Given the description of an element on the screen output the (x, y) to click on. 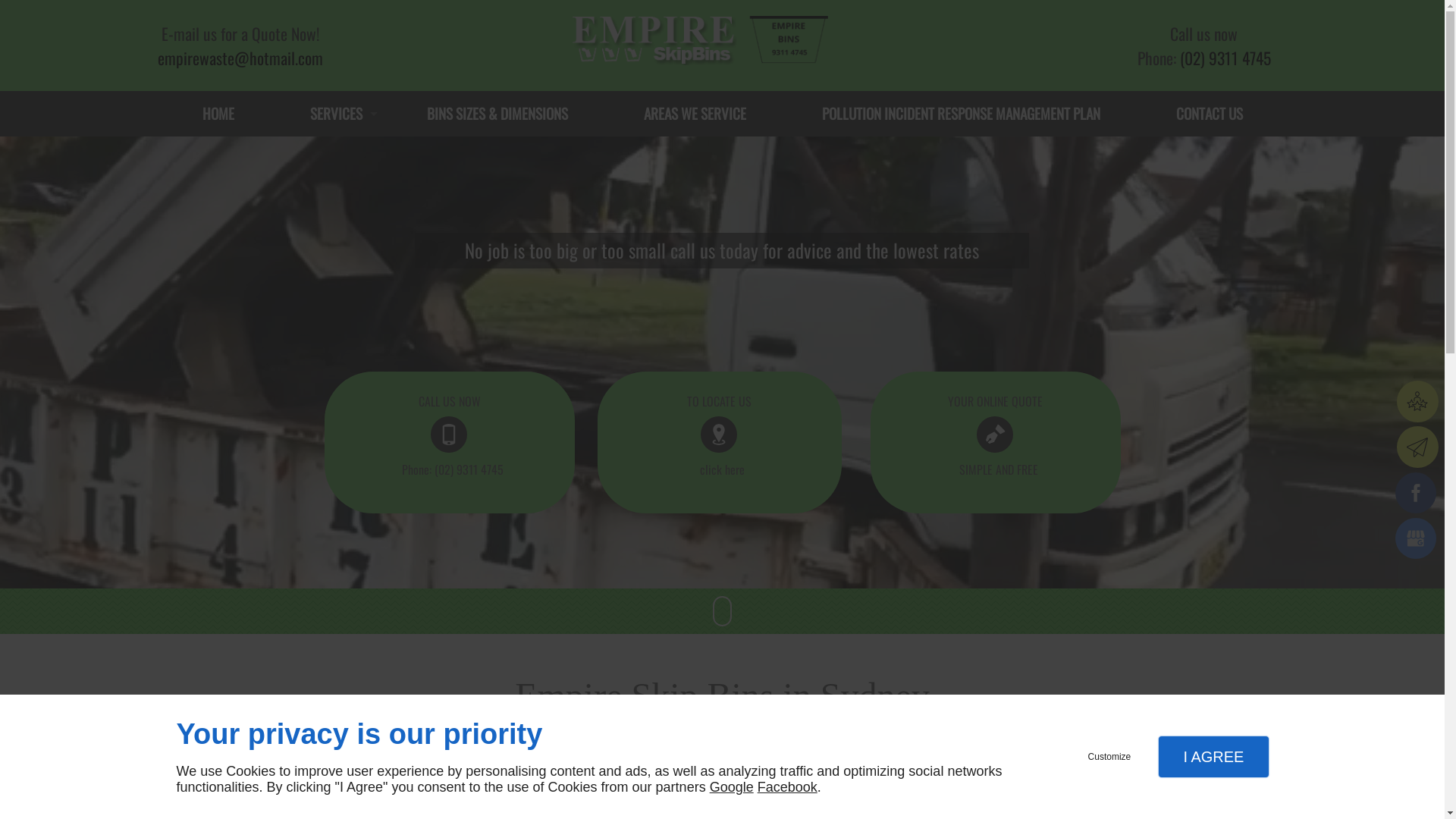
Reviews Element type: hover (1417, 401)
CONTACT US Element type: text (1208, 113)
HOME Element type: text (217, 113)
POLLUTION INCIDENT RESPONSE MANAGEMENT PLAN Element type: text (961, 113)
Newsletter Element type: hover (1417, 446)
BINS SIZES & DIMENSIONS Element type: text (496, 113)
SERVICES Element type: text (329, 113)
YOUR ONLINE QUOTE
SIMPLE AND FREE Element type: text (995, 442)
CALL US NOW
Phone: (02) 9311 4745 Element type: text (449, 442)
(02) 9311 4745 Element type: text (1224, 57)
empirewaste@hotmail.com Element type: text (240, 57)
Facebook Element type: text (787, 786)
AREAS WE SERVICE Element type: text (694, 113)
Facebook Element type: hover (1417, 494)
Mybusiness Element type: hover (1417, 540)
Google Element type: text (731, 786)
TO LOCATE US
click here Element type: text (719, 442)
